Given the description of an element on the screen output the (x, y) to click on. 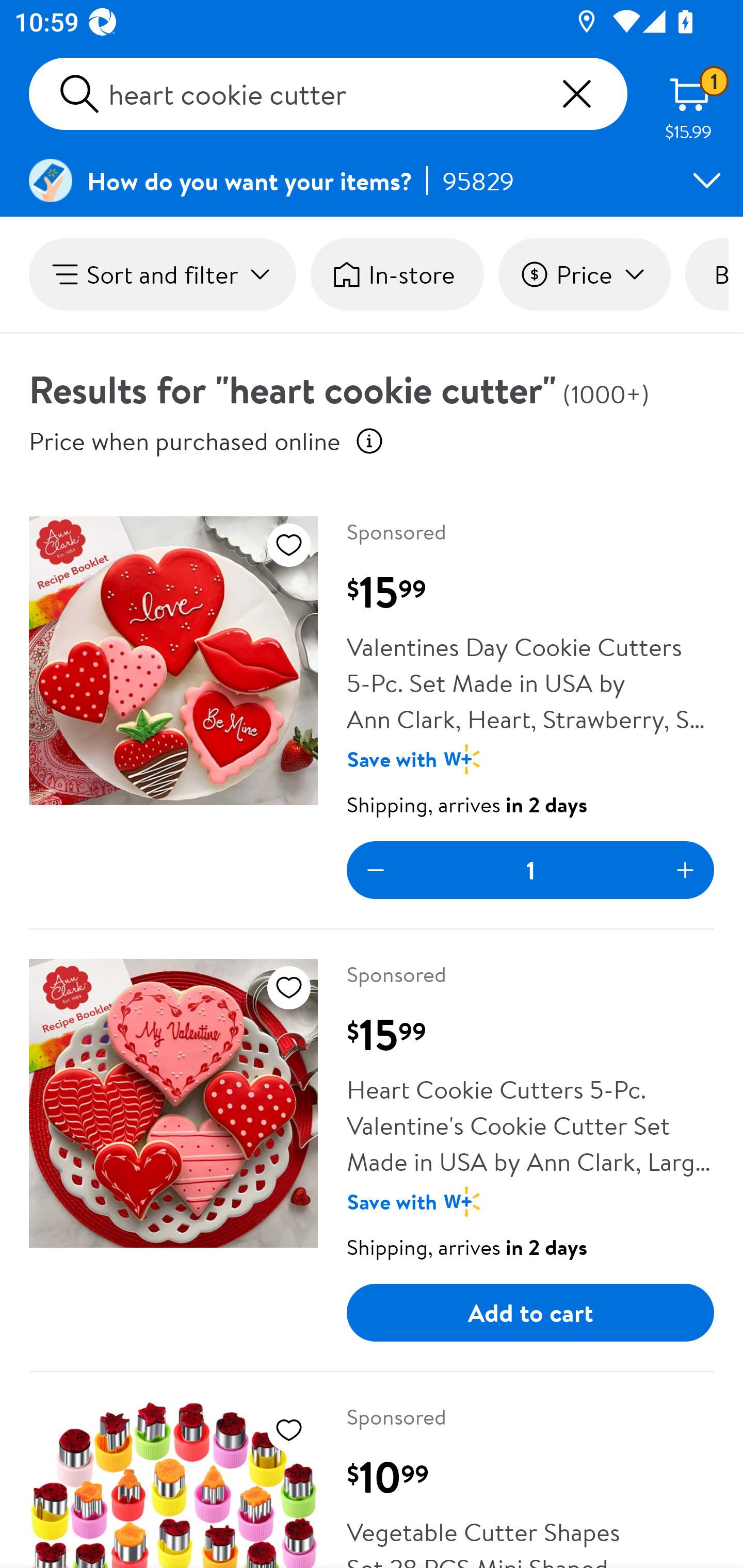
heart cookie cutter Clear Text (327, 94)
Clear Text (576, 94)
Price when purchased online (184, 440)
Price when purchased online (369, 440)
Add to cart (530, 1313)
